Given the description of an element on the screen output the (x, y) to click on. 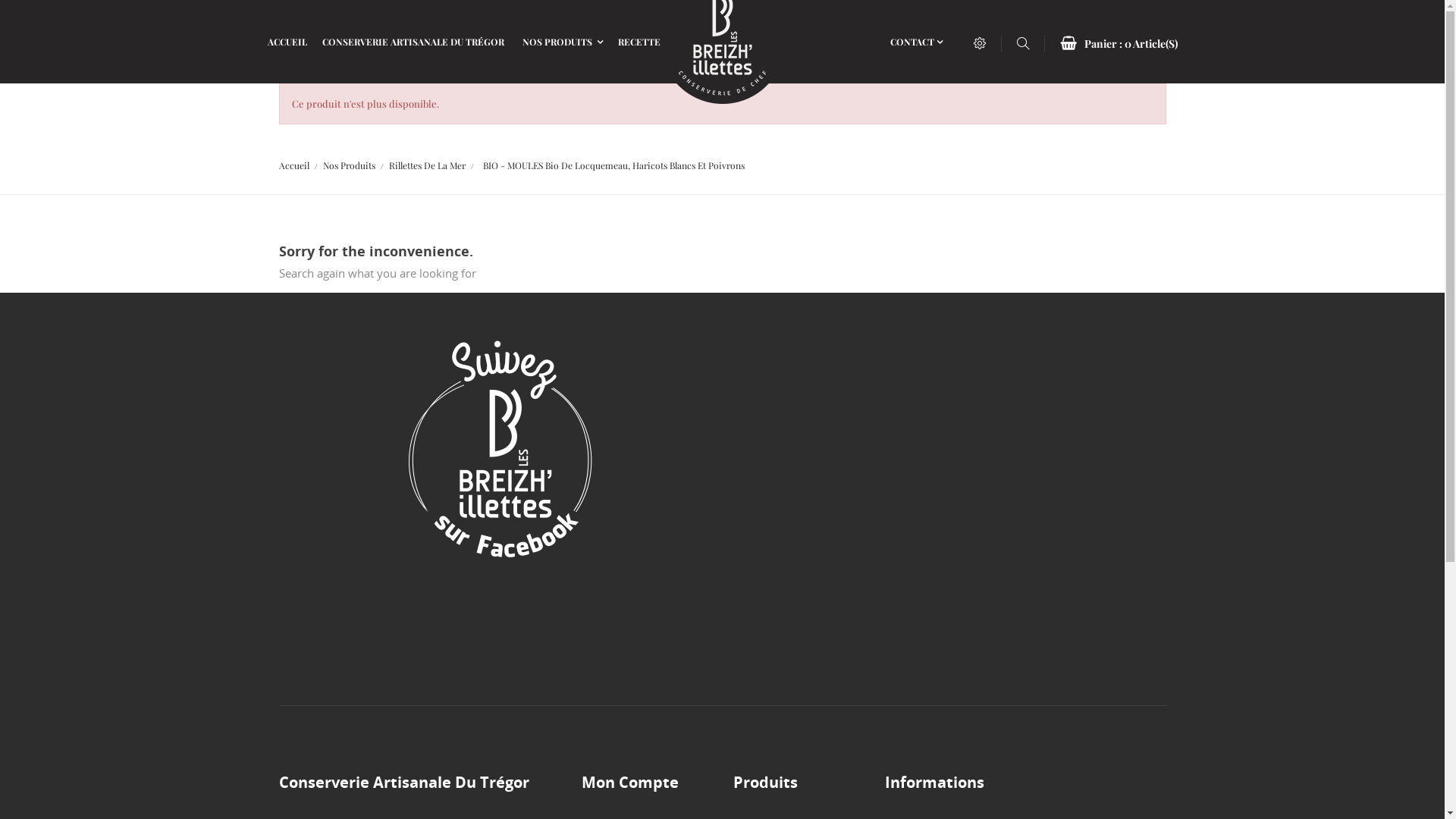
NOS PRODUITS Element type: text (561, 41)
BIO - MOULES Bio De Locquemeau, Haricots Blancs Et Poivrons Element type: text (613, 164)
Rillettes De La Mer Element type: text (427, 164)
Panier : 0 Article(S) Element type: text (1118, 43)
Nos Produits Element type: text (349, 164)
Accueil Element type: text (294, 164)
CONTACT Element type: text (916, 41)
RECETTES DU CHEF Element type: text (662, 41)
ACCUEIL Element type: text (286, 41)
